Given the description of an element on the screen output the (x, y) to click on. 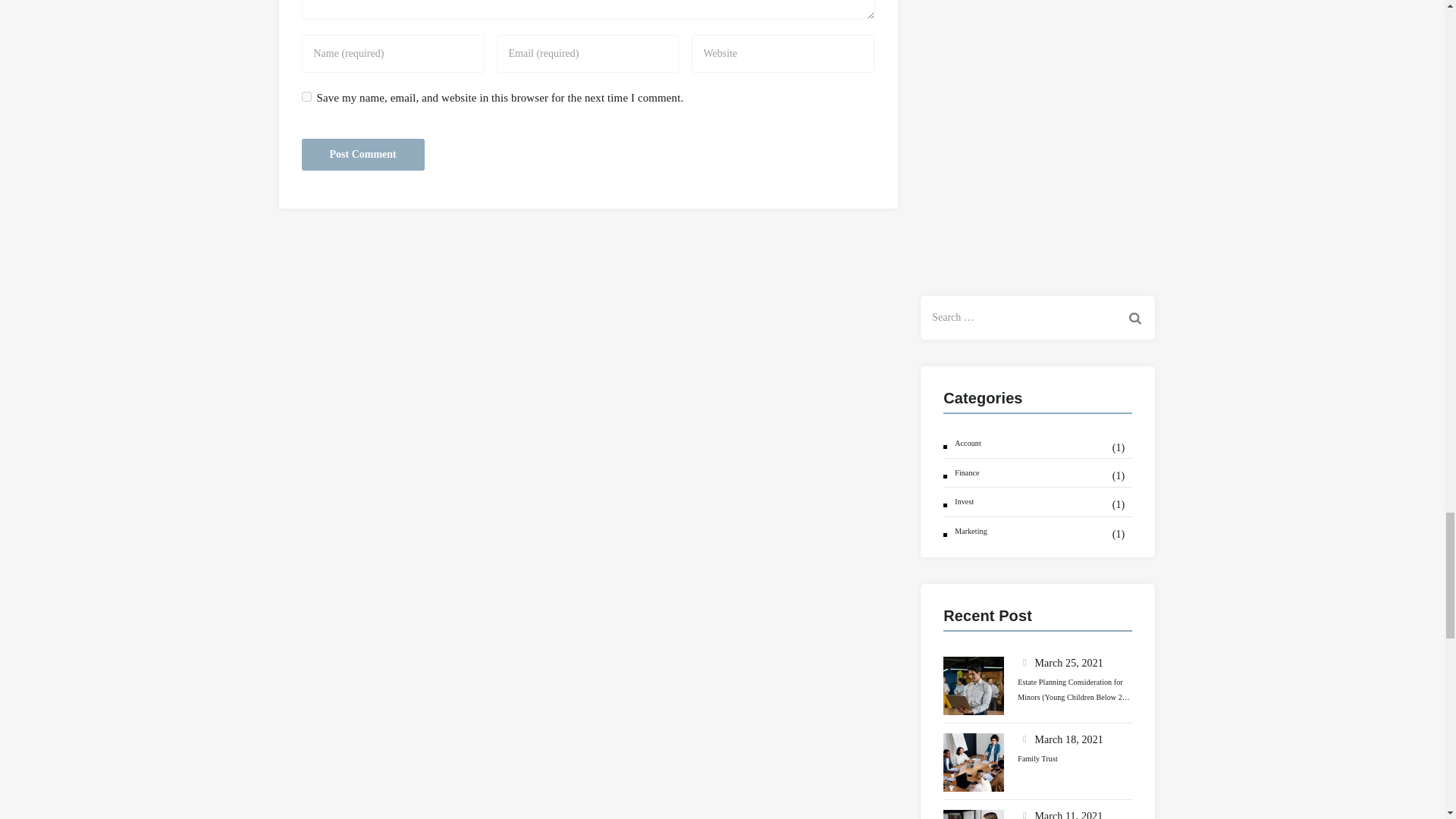
Finance (960, 472)
Post Comment (363, 153)
Account (962, 443)
Search (1135, 317)
Post Comment (363, 153)
Search (1135, 317)
Invest (958, 501)
Search (1135, 317)
yes (306, 96)
